Given the description of an element on the screen output the (x, y) to click on. 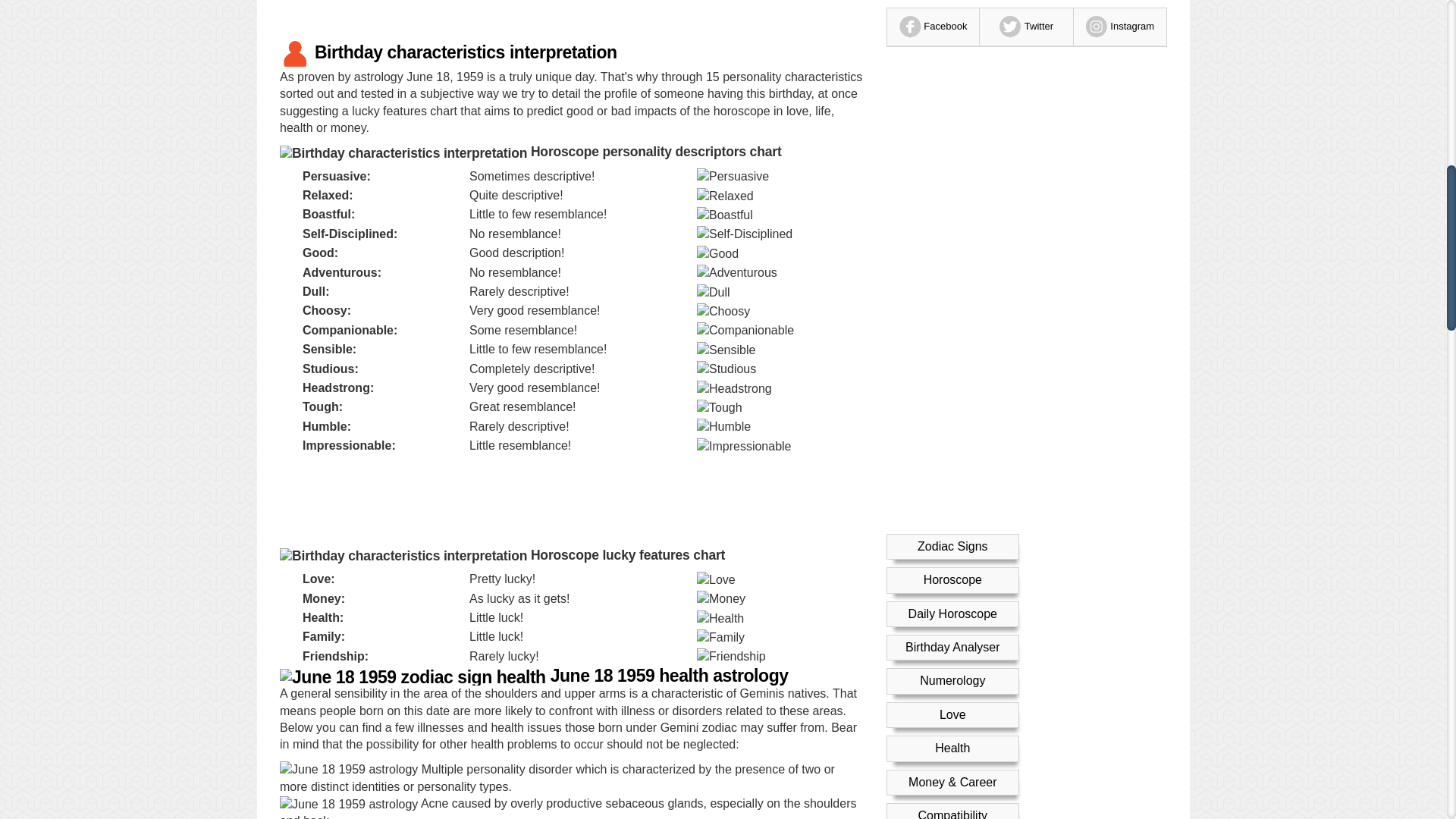
Blog (952, 241)
Chinese Western (952, 174)
4 Elements (952, 141)
Contact (952, 276)
Birthdays (952, 107)
Astrology (952, 73)
Compatibility (952, 40)
Quotes (952, 208)
